Given the description of an element on the screen output the (x, y) to click on. 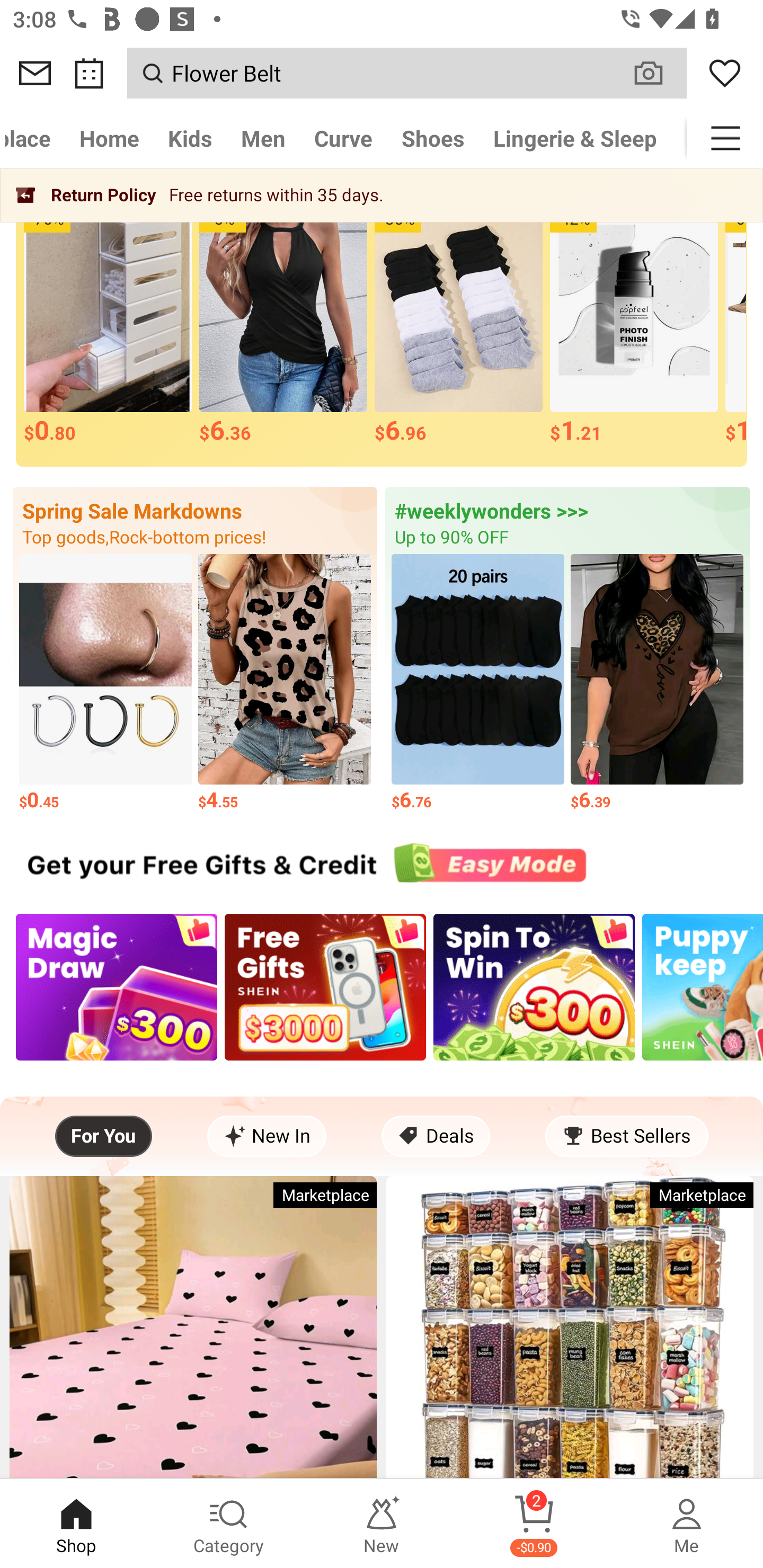
Wishlist (724, 72)
VISUAL SEARCH (657, 72)
Marketplace (32, 137)
Home (108, 137)
Kids (189, 137)
Men (262, 137)
Curve (343, 137)
Shoes (433, 137)
Lingerie & Sleep (575, 137)
Return Policy   Free returns within 35 days. (381, 194)
$0.45 Price $0.45 (105, 683)
$4.55 Price $4.55 (284, 683)
$6.76 Price $6.76 (477, 683)
$6.39 Price $6.39 (656, 683)
New In (266, 1136)
Deals (435, 1136)
Best Sellers (626, 1136)
Category (228, 1523)
New (381, 1523)
Cart 2 -$0.90 (533, 1523)
Me (686, 1523)
